Given the description of an element on the screen output the (x, y) to click on. 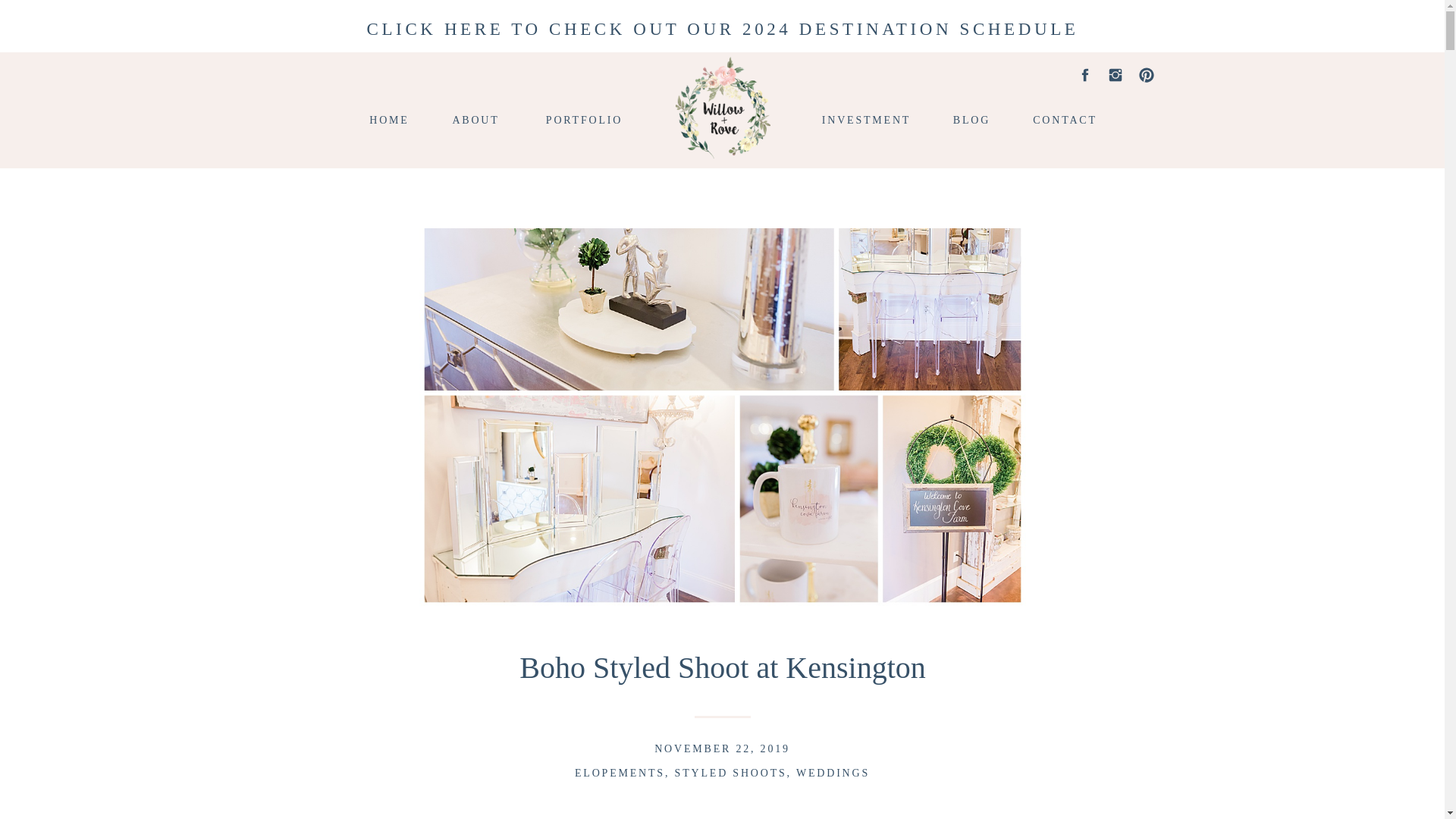
ELOPEMENTS (620, 772)
STYLED SHOOTS (731, 772)
INVESTMENT (866, 117)
BLOG (970, 117)
WEDDINGS (832, 772)
CONTACT (1064, 117)
ABOUT (475, 117)
CLICK HERE TO CHECK OUT OUR 2024 DESTINATION SCHEDULE (722, 25)
HOME (389, 117)
